Given the description of an element on the screen output the (x, y) to click on. 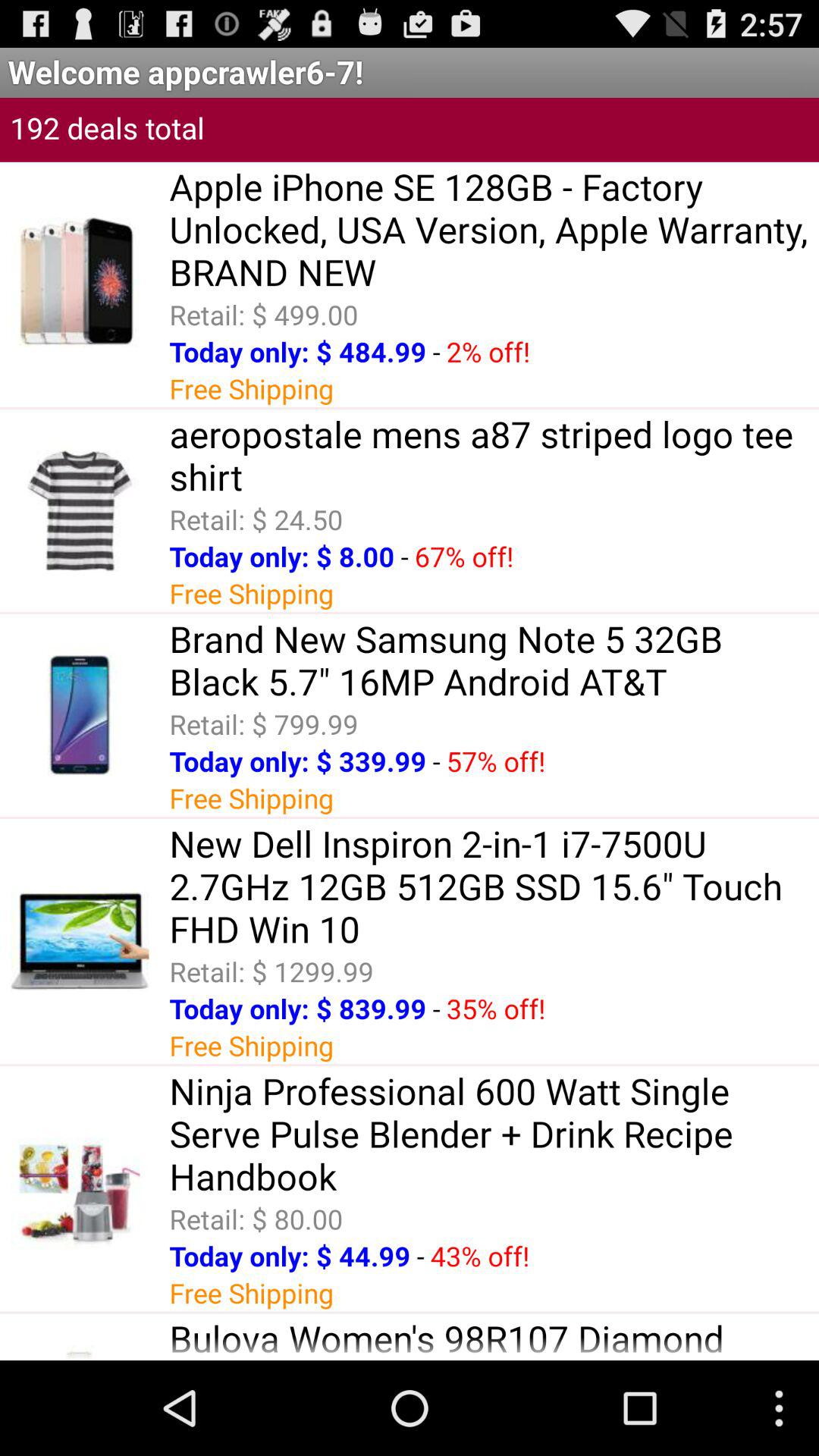
press the icon next to the 35% off! (436, 1008)
